Given the description of an element on the screen output the (x, y) to click on. 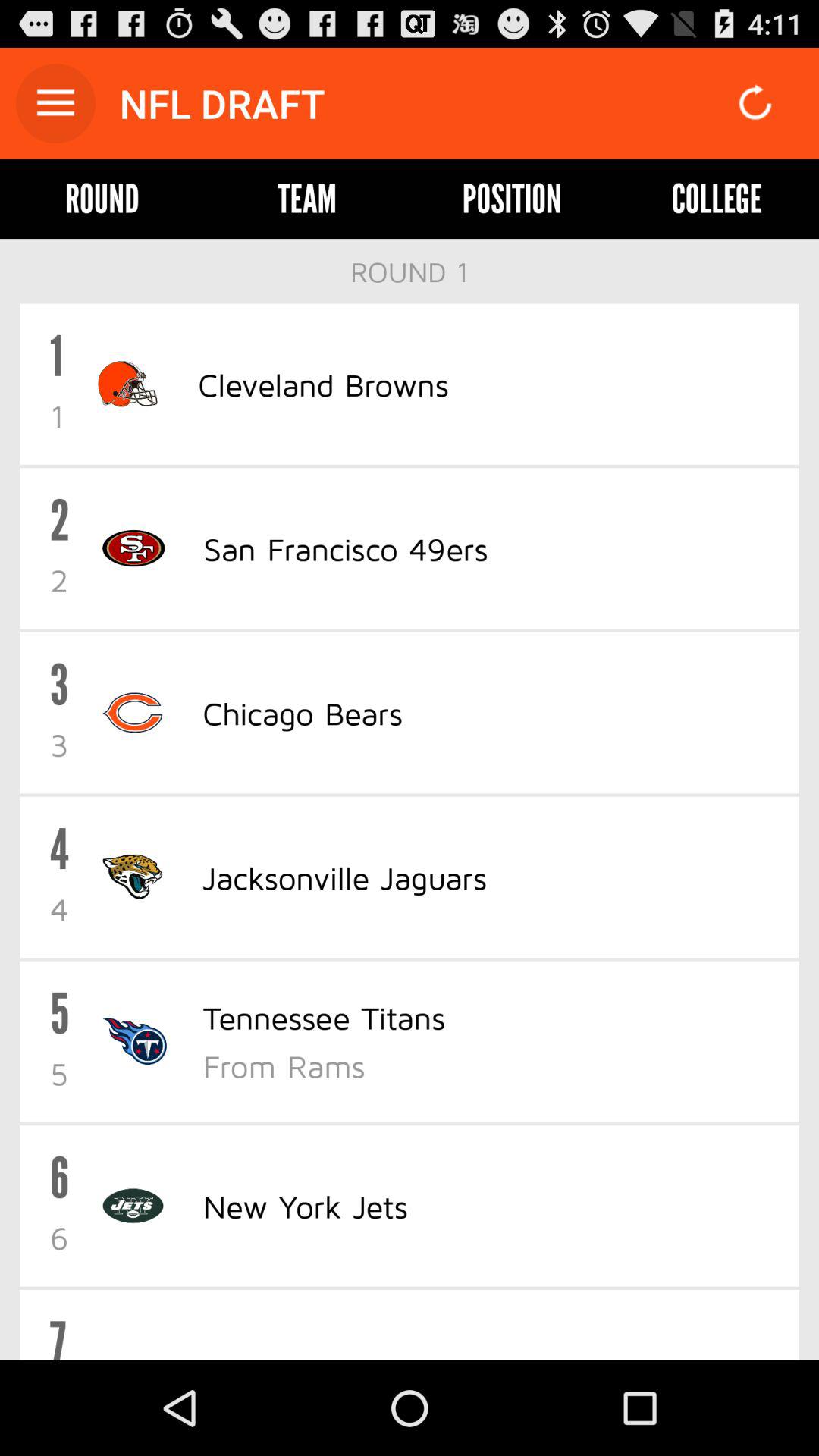
choose item below the chicago bears icon (344, 877)
